Given the description of an element on the screen output the (x, y) to click on. 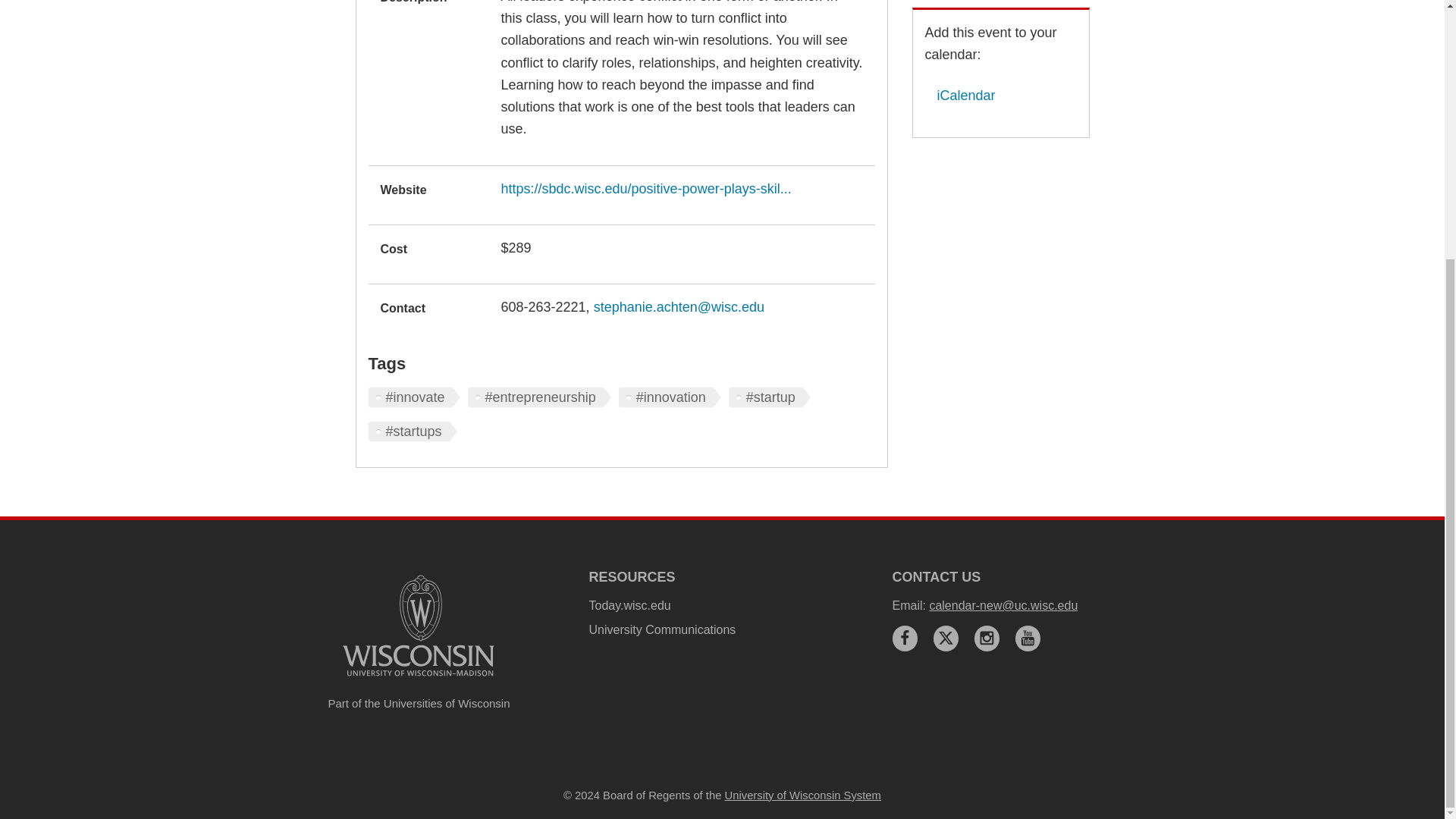
608-263-2221 (542, 306)
